Given the description of an element on the screen output the (x, y) to click on. 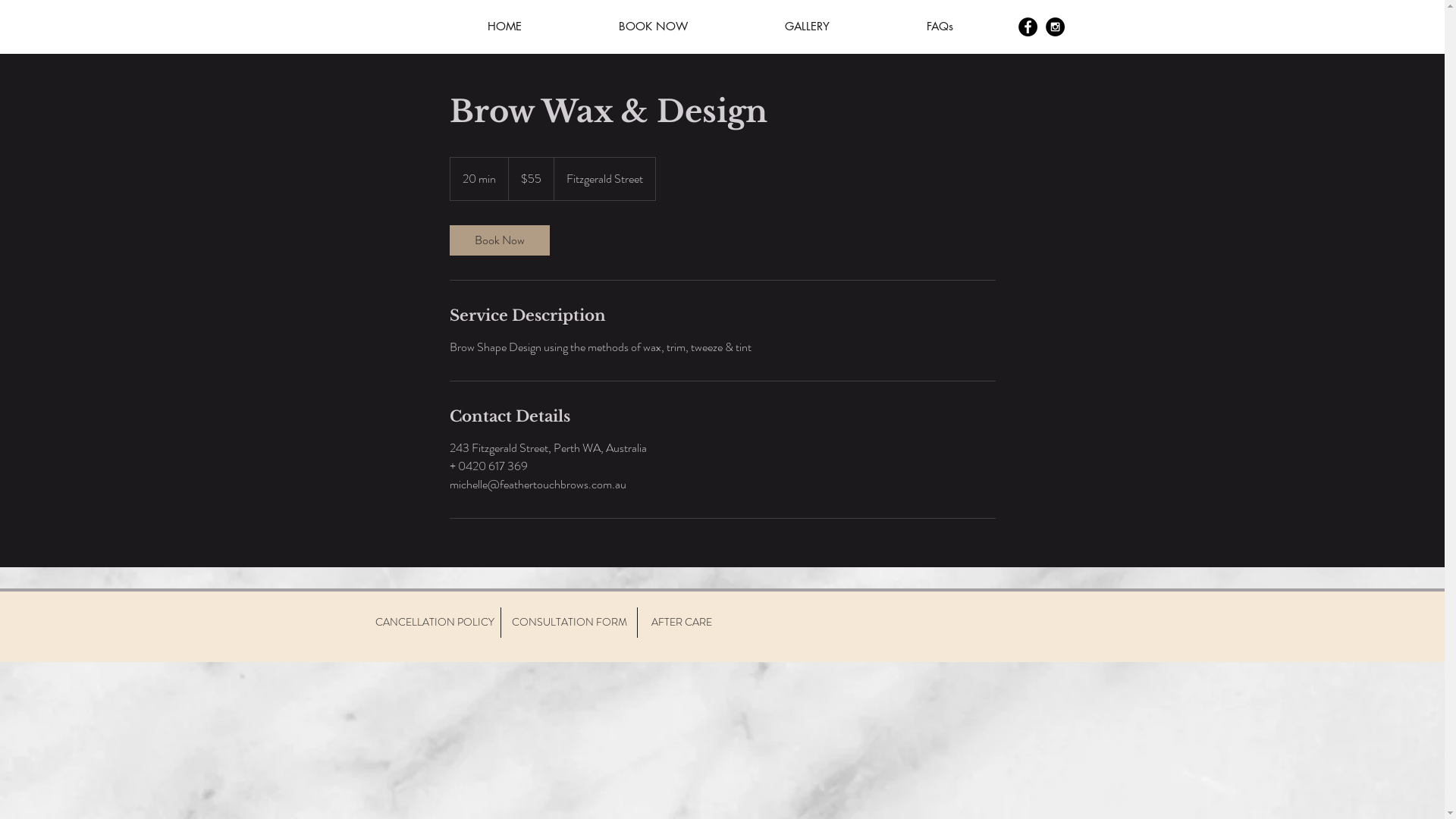
Book Now Element type: text (498, 240)
FAQs Element type: text (939, 26)
CANCELLATION POLICY Element type: text (434, 622)
HOME Element type: text (503, 26)
BOOK NOW Element type: text (653, 26)
AFTER CARE Element type: text (681, 622)
CONSULTATION FORM Element type: text (568, 622)
GALLERY Element type: text (806, 26)
